Given the description of an element on the screen output the (x, y) to click on. 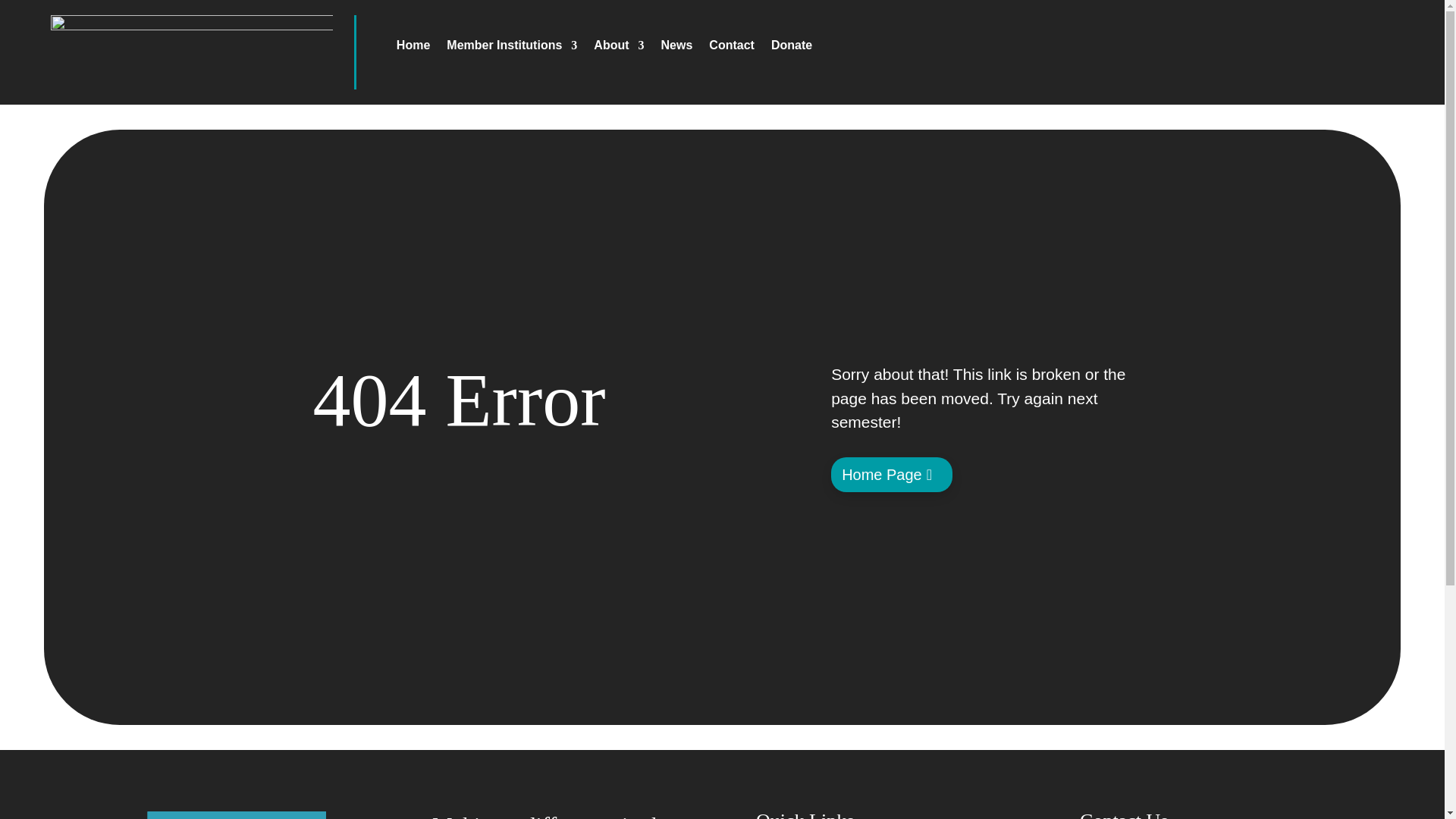
News (677, 48)
Donate (791, 48)
About (618, 48)
Member Institutions (511, 48)
Contact (731, 48)
Home (412, 48)
Home Page (891, 474)
